Given the description of an element on the screen output the (x, y) to click on. 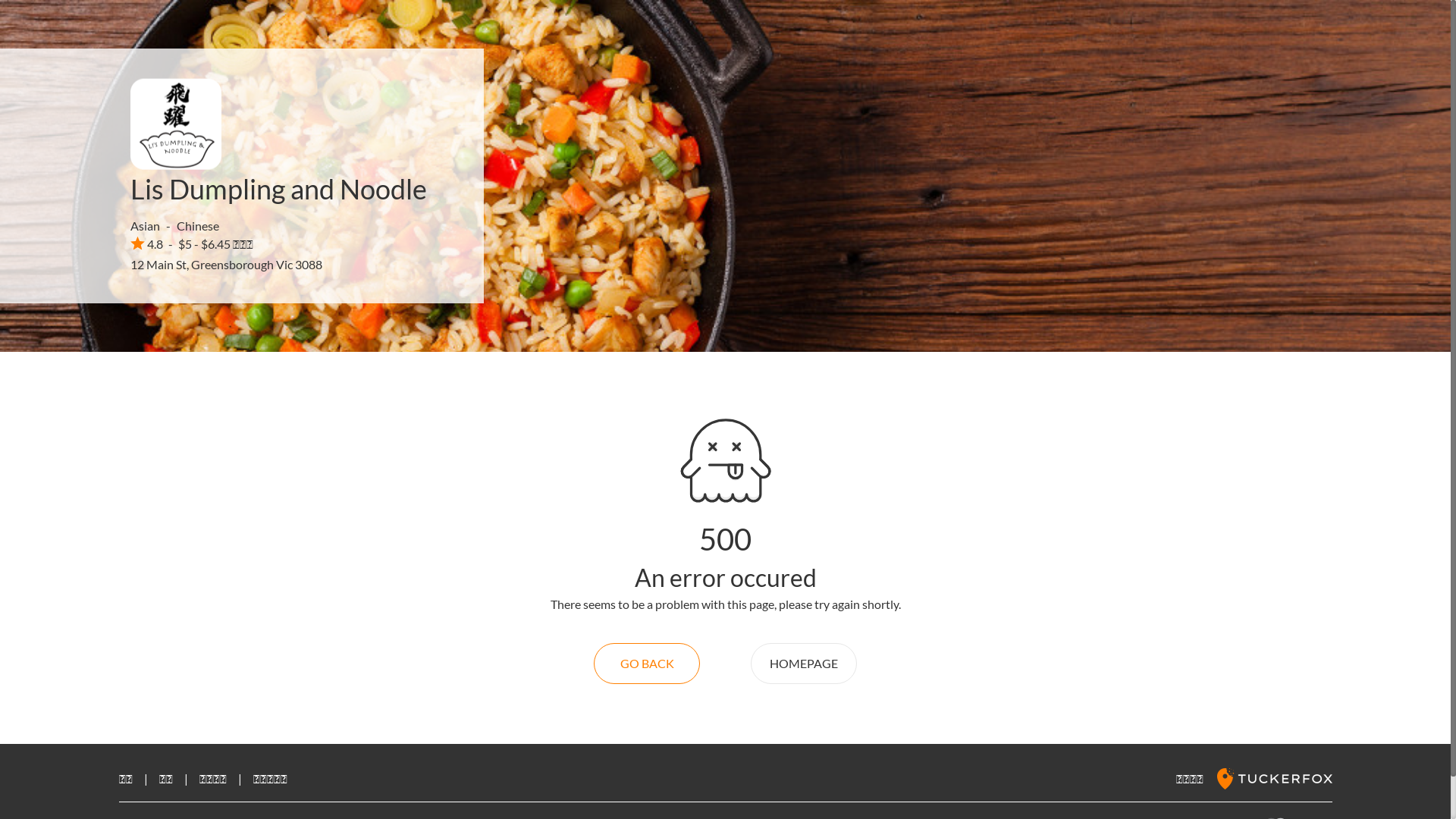
Lis Dumpling and Noodle Element type: text (278, 188)
GO BACK Element type: text (646, 663)
HOMEPAGE Element type: text (803, 663)
4.8 Element type: text (146, 243)
